Given the description of an element on the screen output the (x, y) to click on. 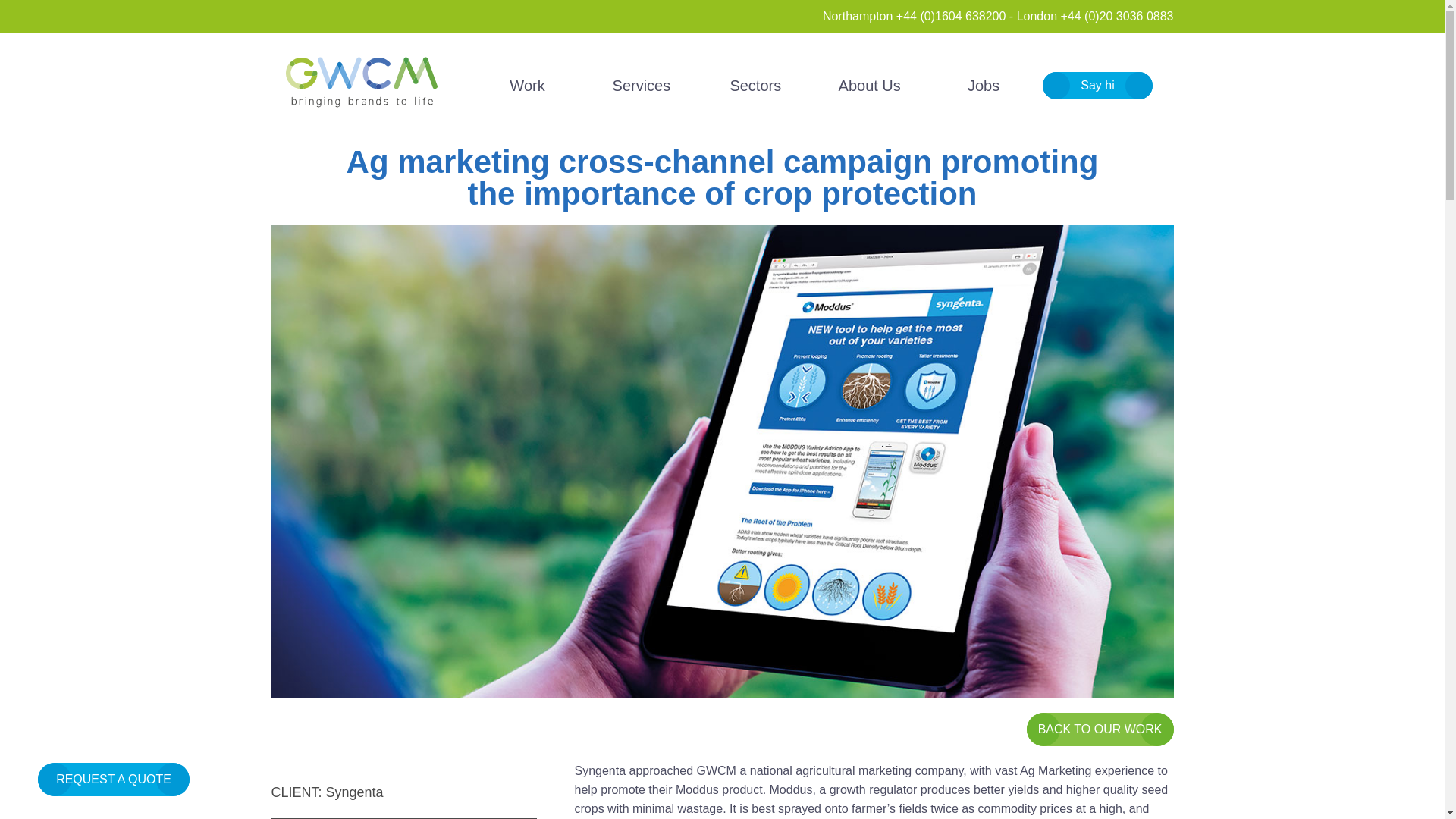
Work (527, 85)
BACK TO OUR WORK (1099, 729)
REQUEST A QUOTE (113, 779)
Jobs (983, 85)
Sectors (755, 85)
Services (641, 85)
About Us (869, 85)
Gavin Willis Creative Marketing (360, 82)
Say hi (1097, 85)
